Given the description of an element on the screen output the (x, y) to click on. 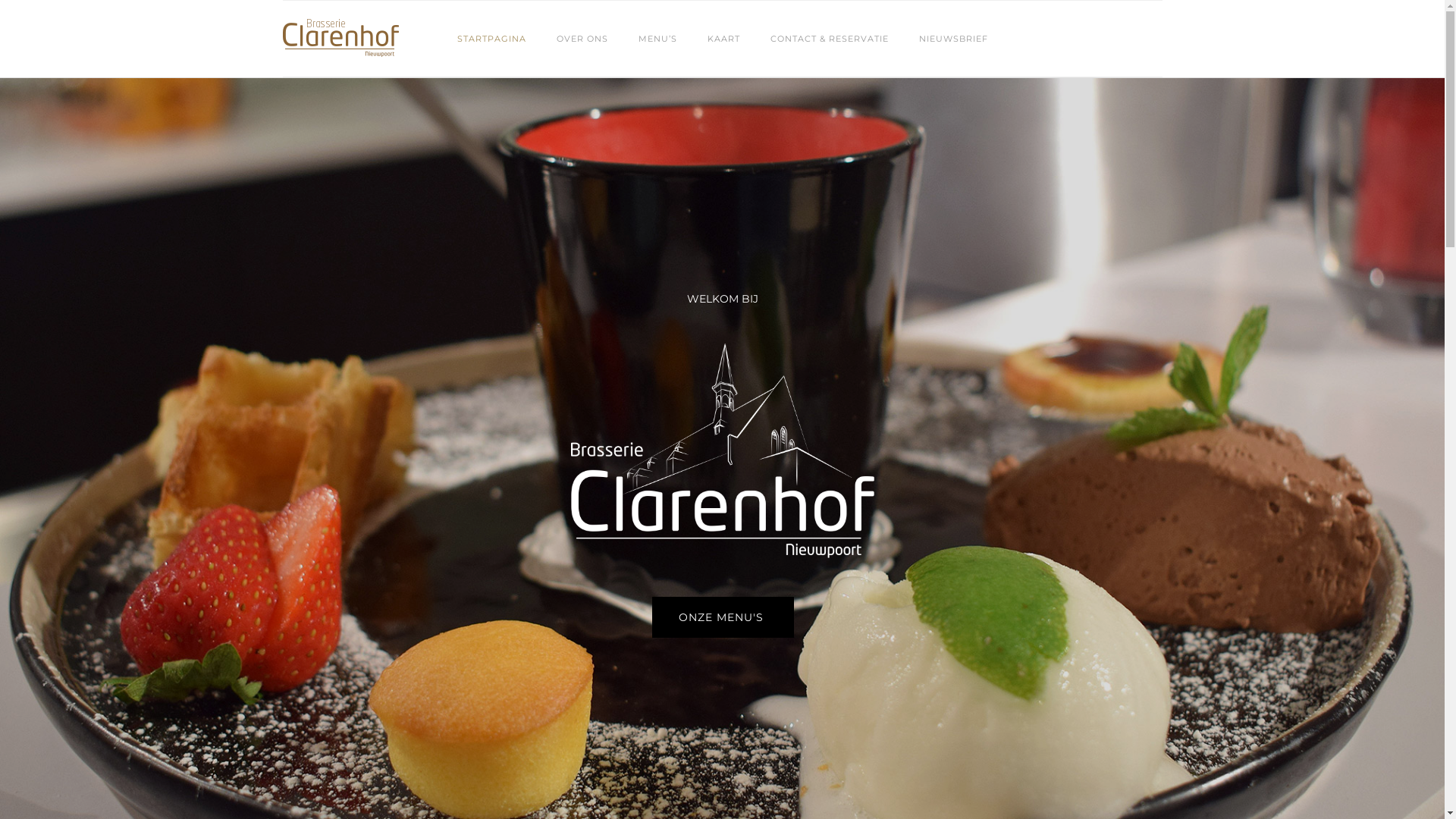
STARTPAGINA Element type: text (490, 38)
OVER ONS Element type: text (582, 38)
KAART Element type: text (722, 38)
CONTACT & RESERVATIE Element type: text (829, 38)
ONZE MENU'S Element type: text (722, 616)
NIEUWSBRIEF Element type: text (953, 38)
